Given the description of an element on the screen output the (x, y) to click on. 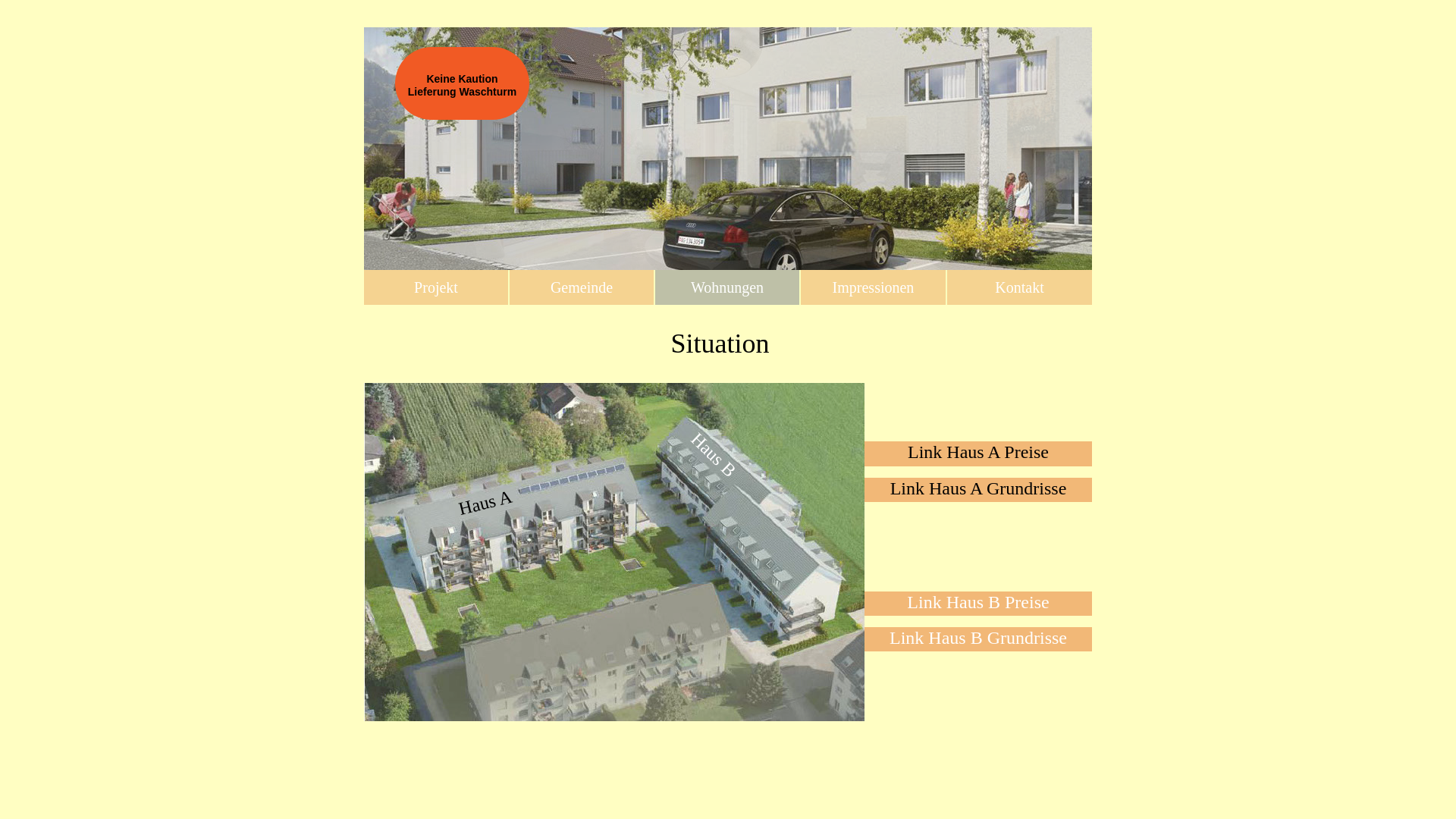
Link Haus B Preise Element type: text (978, 603)
Impressionen Element type: text (872, 286)
Link Haus A Preise Element type: text (978, 453)
Link Haus B Grundrisse Element type: text (978, 639)
Wohnungen Element type: text (727, 286)
Kontakt Element type: text (1019, 286)
Projekt Element type: text (436, 286)
Gemeinde Element type: text (581, 286)
Link Haus A Grundrisse Element type: text (978, 489)
